Given the description of an element on the screen output the (x, y) to click on. 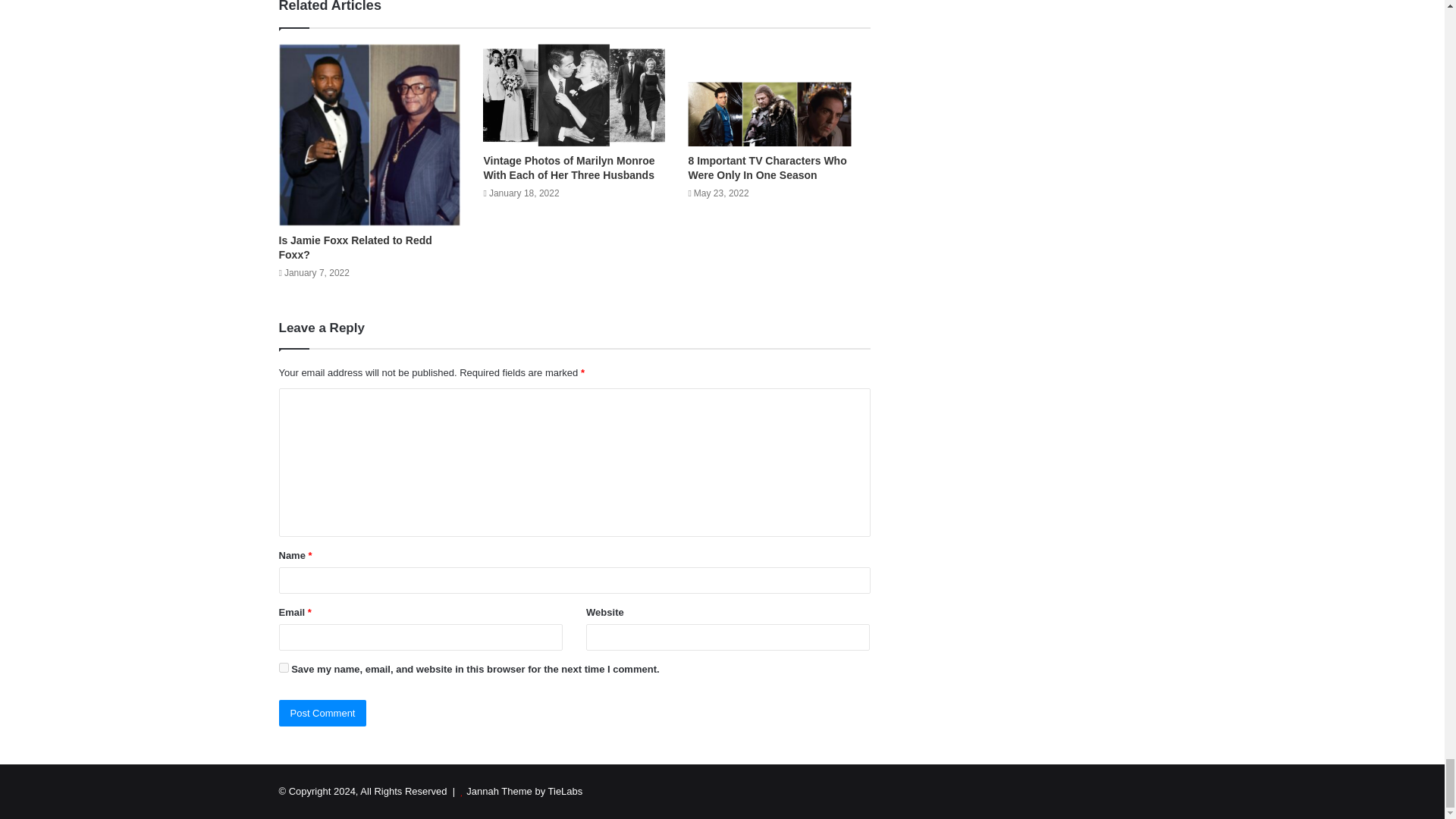
Post Comment (322, 713)
yes (283, 667)
Post Comment (322, 713)
8 Important TV Characters Who Were Only In One Season (766, 167)
Is Jamie Foxx Related to Redd Foxx? (355, 247)
